Given the description of an element on the screen output the (x, y) to click on. 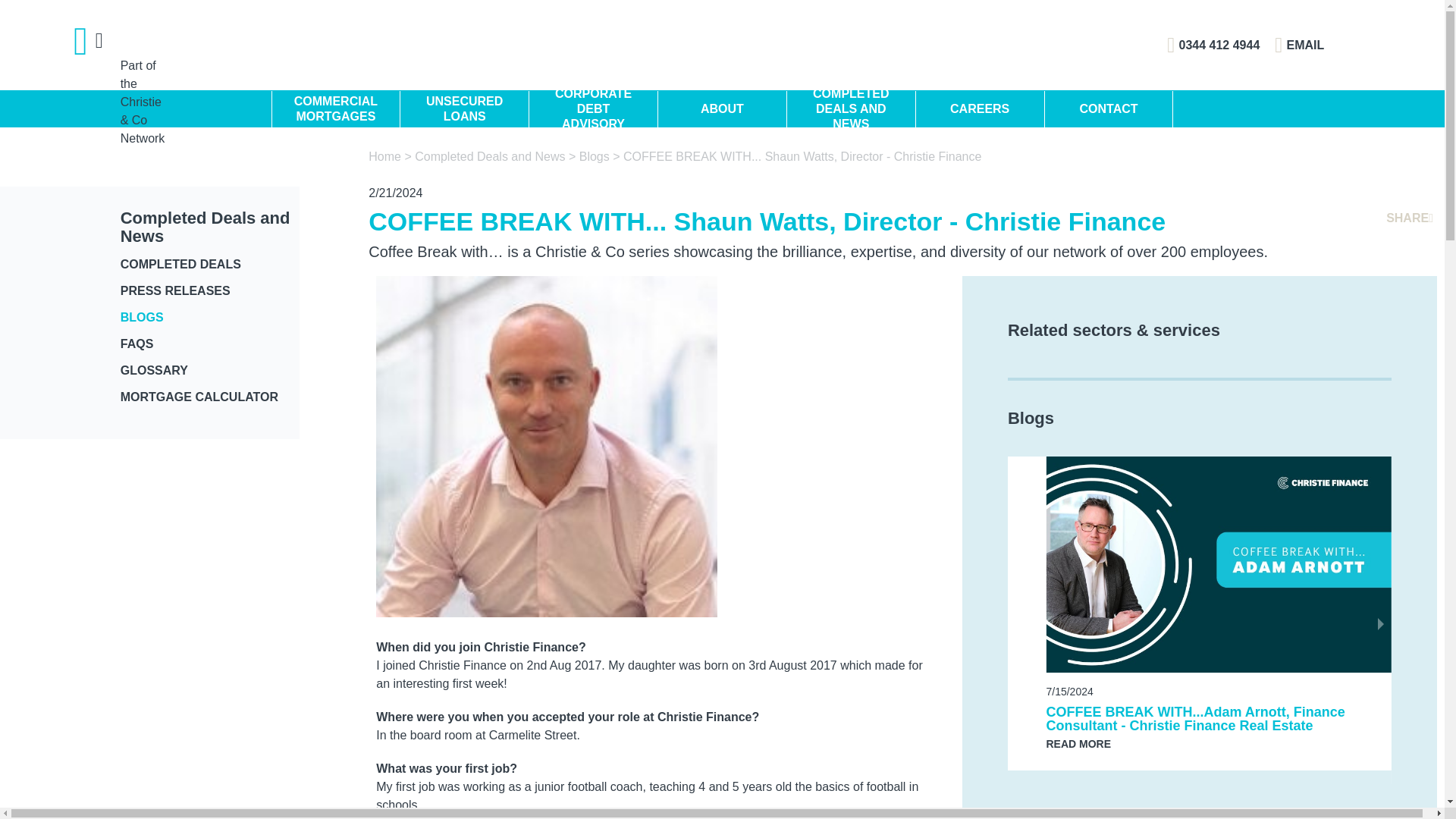
CONTACT (1109, 110)
ABOUT (722, 110)
COMPLETED DEALS AND NEWS (851, 110)
UNSECURED LOANS (464, 110)
Home (384, 155)
COMMERCIAL MORTGAGES (334, 110)
CAREERS (979, 110)
CORPORATE DEBT ADVISORY (593, 110)
EMAIL (1299, 45)
Completed Deals and News (491, 155)
